Given the description of an element on the screen output the (x, y) to click on. 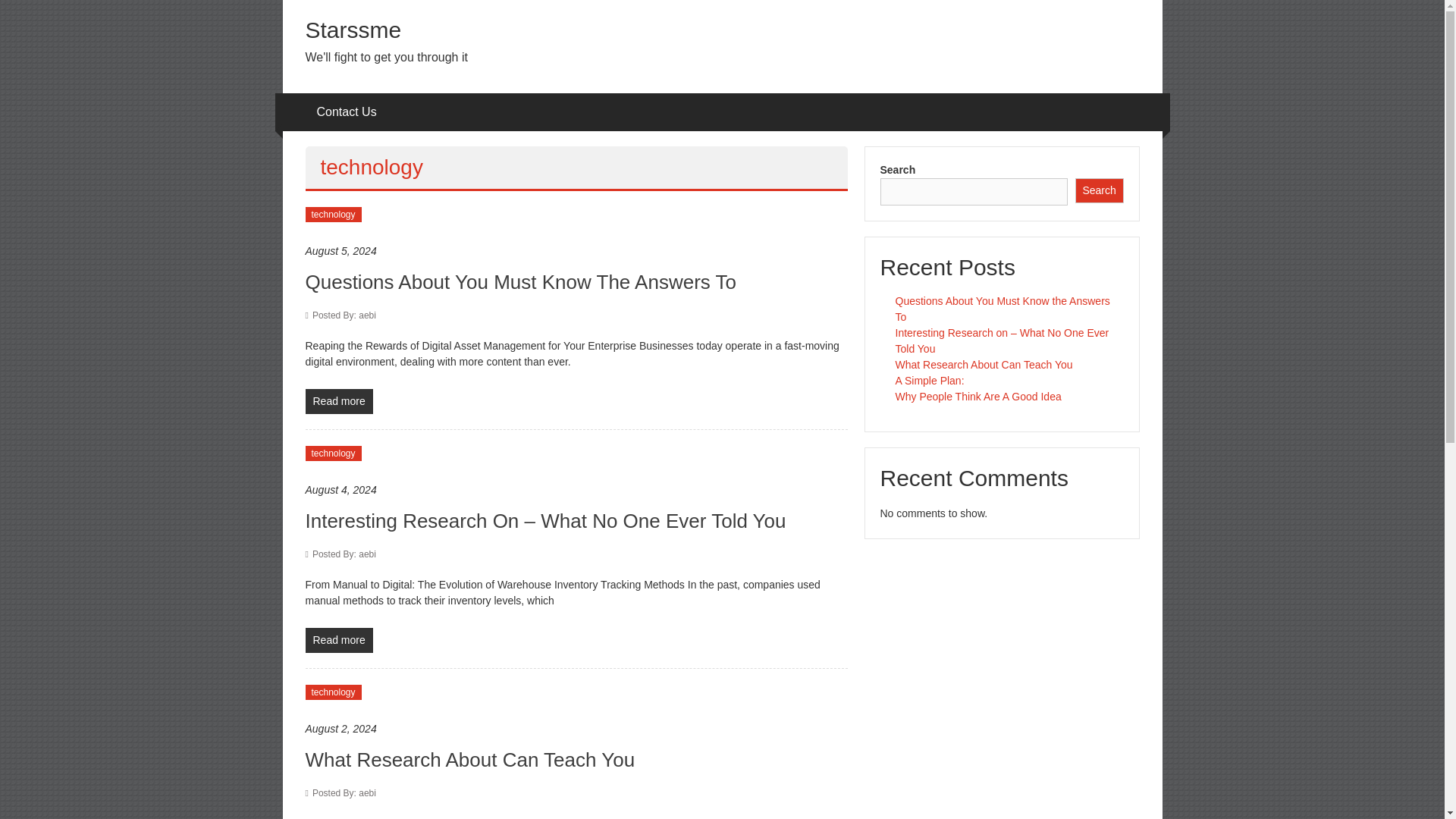
What Research About  Can Teach You (469, 759)
technology (332, 214)
Starssme (352, 29)
What Research About Can Teach You (983, 364)
August 2, 2024 (575, 729)
Posted By: aebi (344, 792)
Contact Us (347, 112)
August 5, 2024 (575, 251)
aebi (344, 315)
Questions About You Must Know the Answers To (1002, 308)
